Given the description of an element on the screen output the (x, y) to click on. 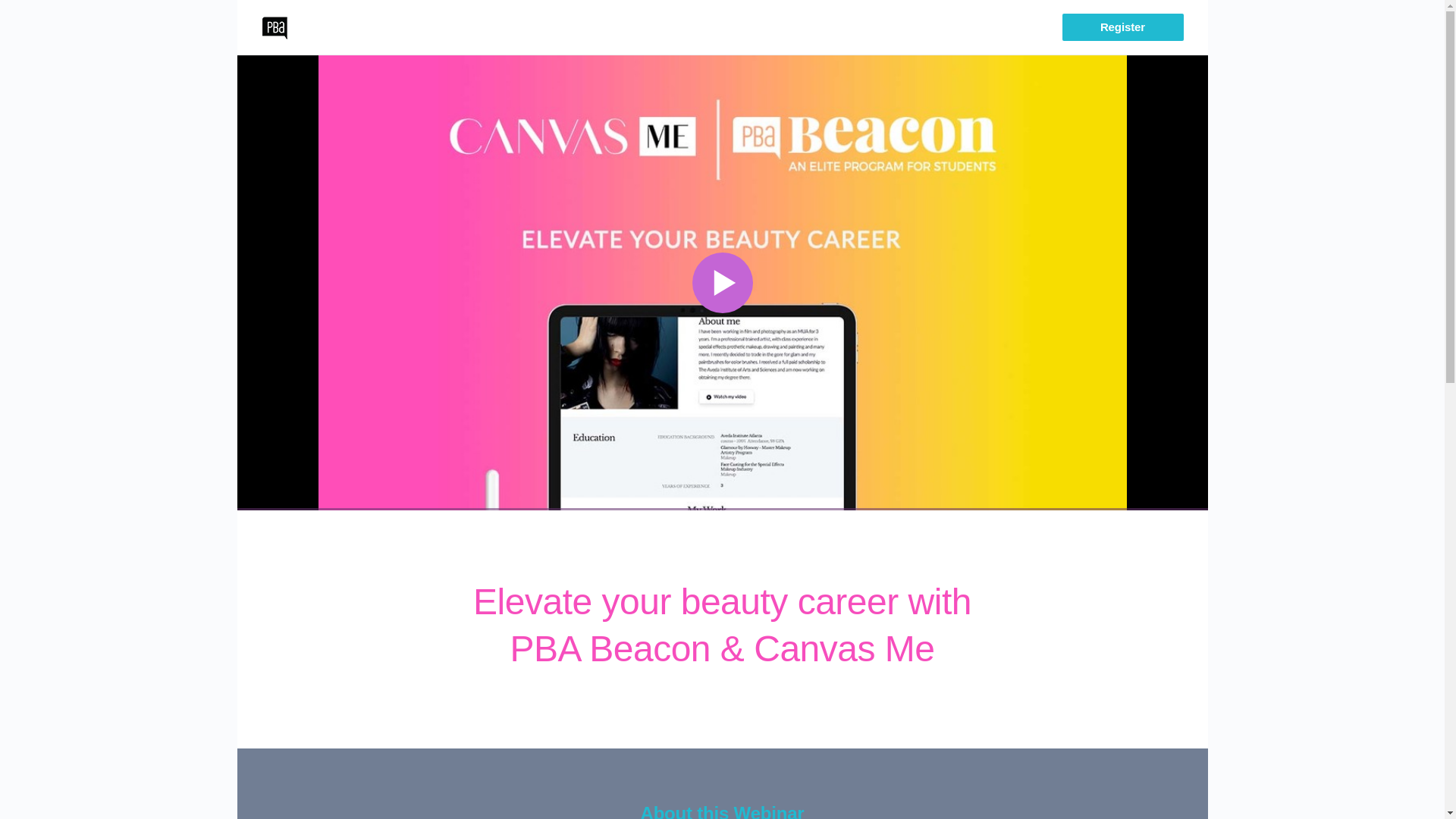
Register (1121, 26)
